Given the description of an element on the screen output the (x, y) to click on. 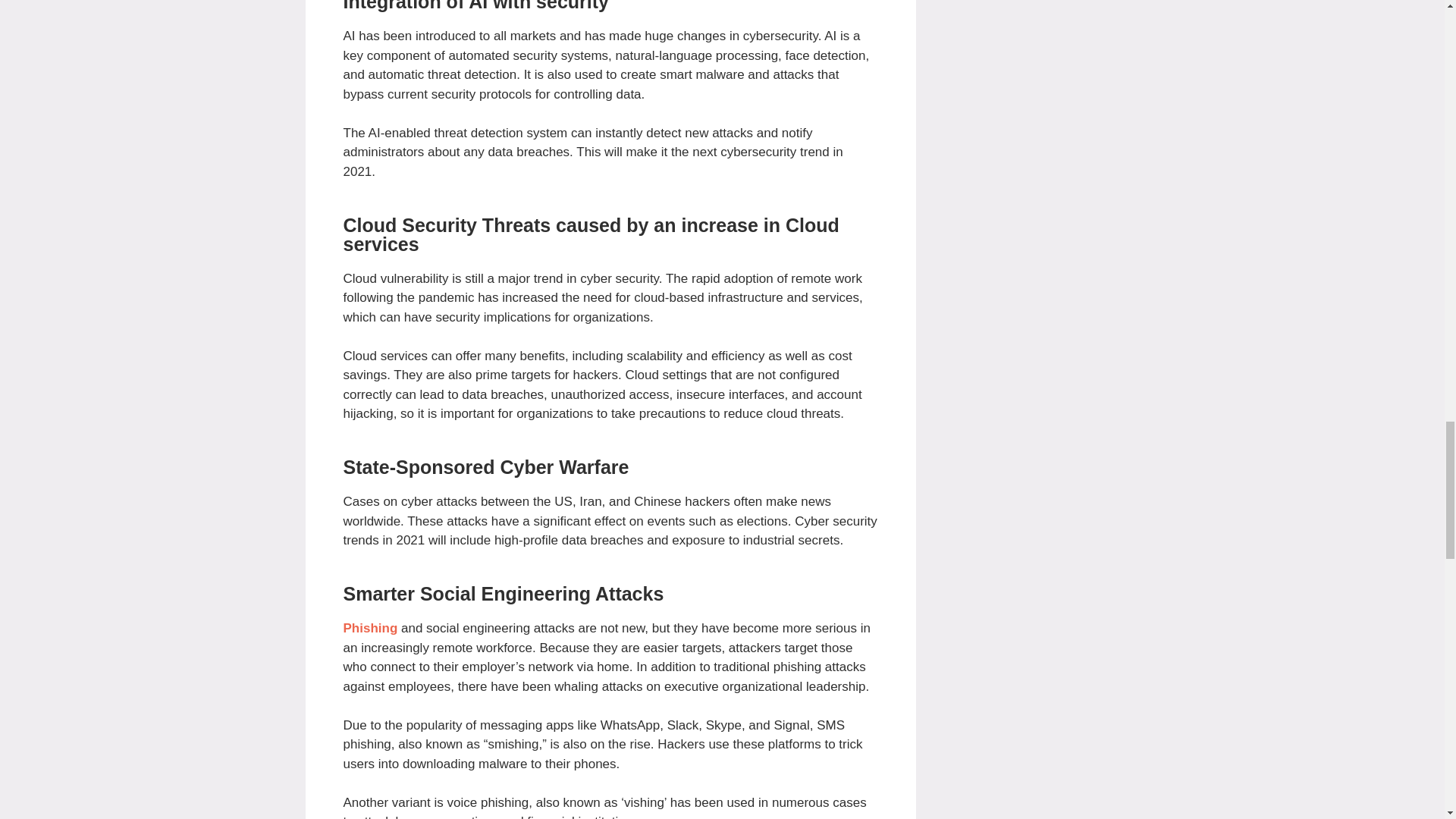
Phishing (369, 627)
